Given the description of an element on the screen output the (x, y) to click on. 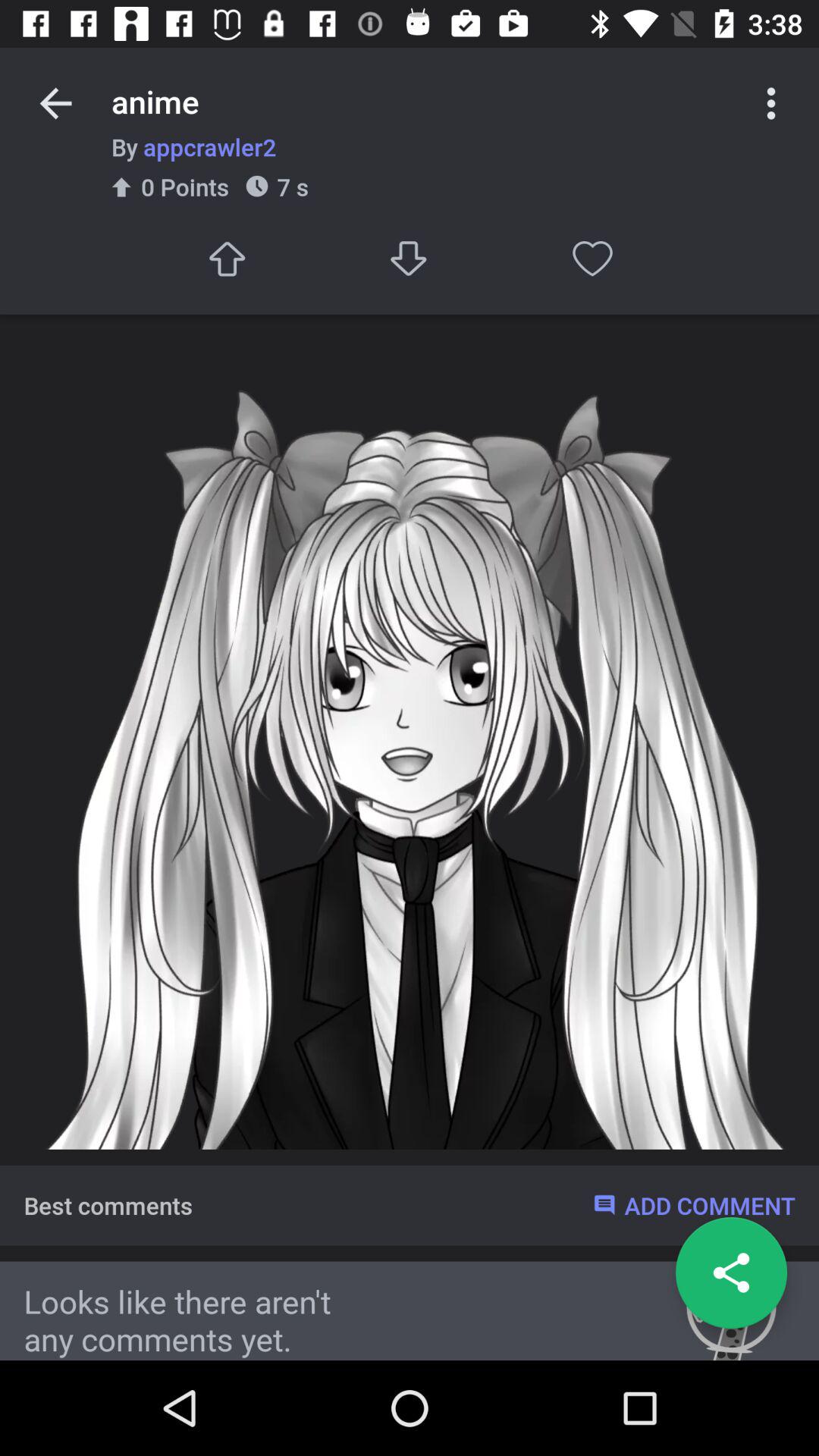
like post (592, 258)
